Given the description of an element on the screen output the (x, y) to click on. 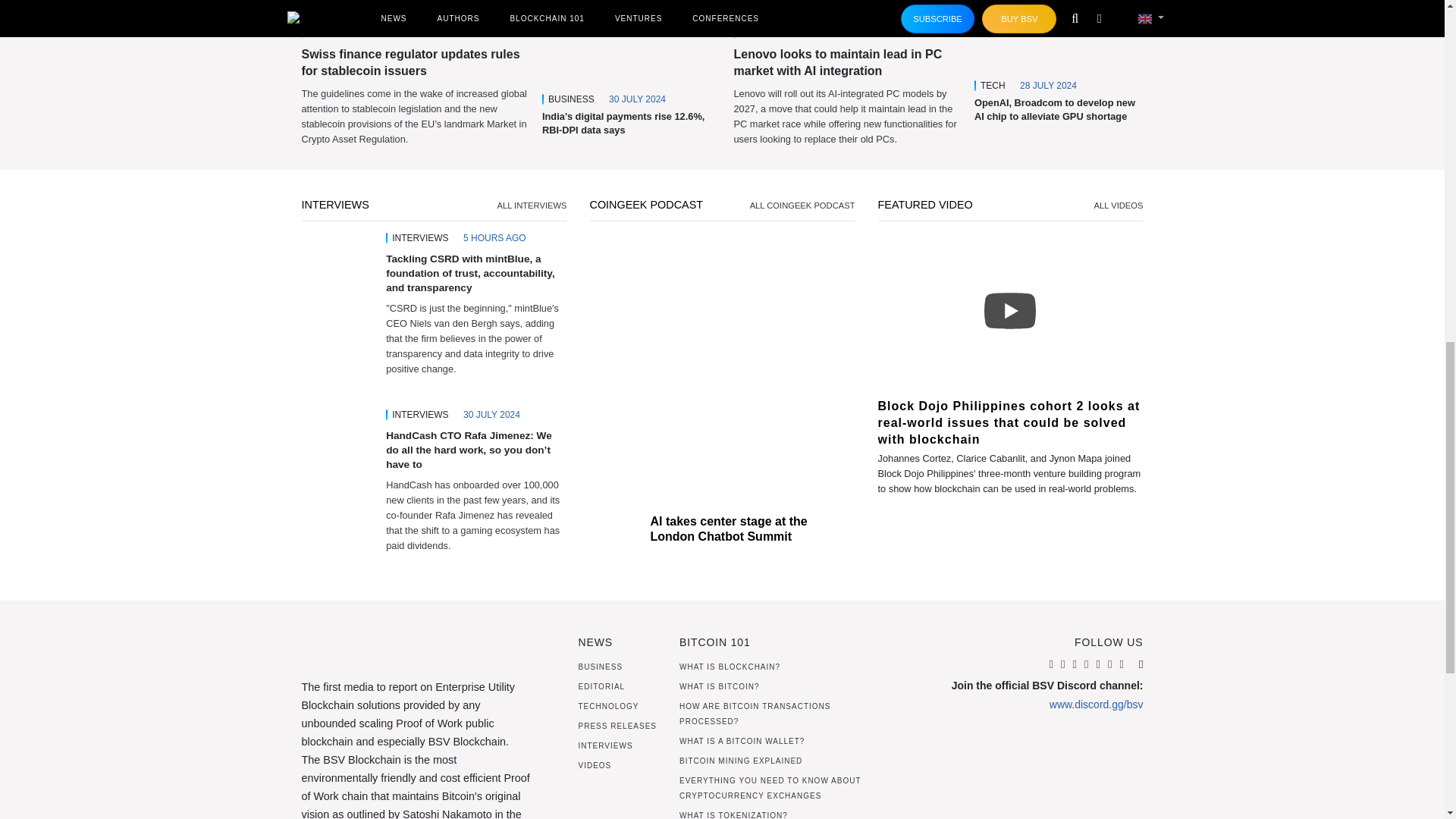
AI takes center stage at the London Chatbot Summit (727, 528)
Stablecoin (416, 6)
AI takes center stage at the London Chatbot Summit (722, 369)
Lenovo - Artificial Intelligence (847, 6)
